Given the description of an element on the screen output the (x, y) to click on. 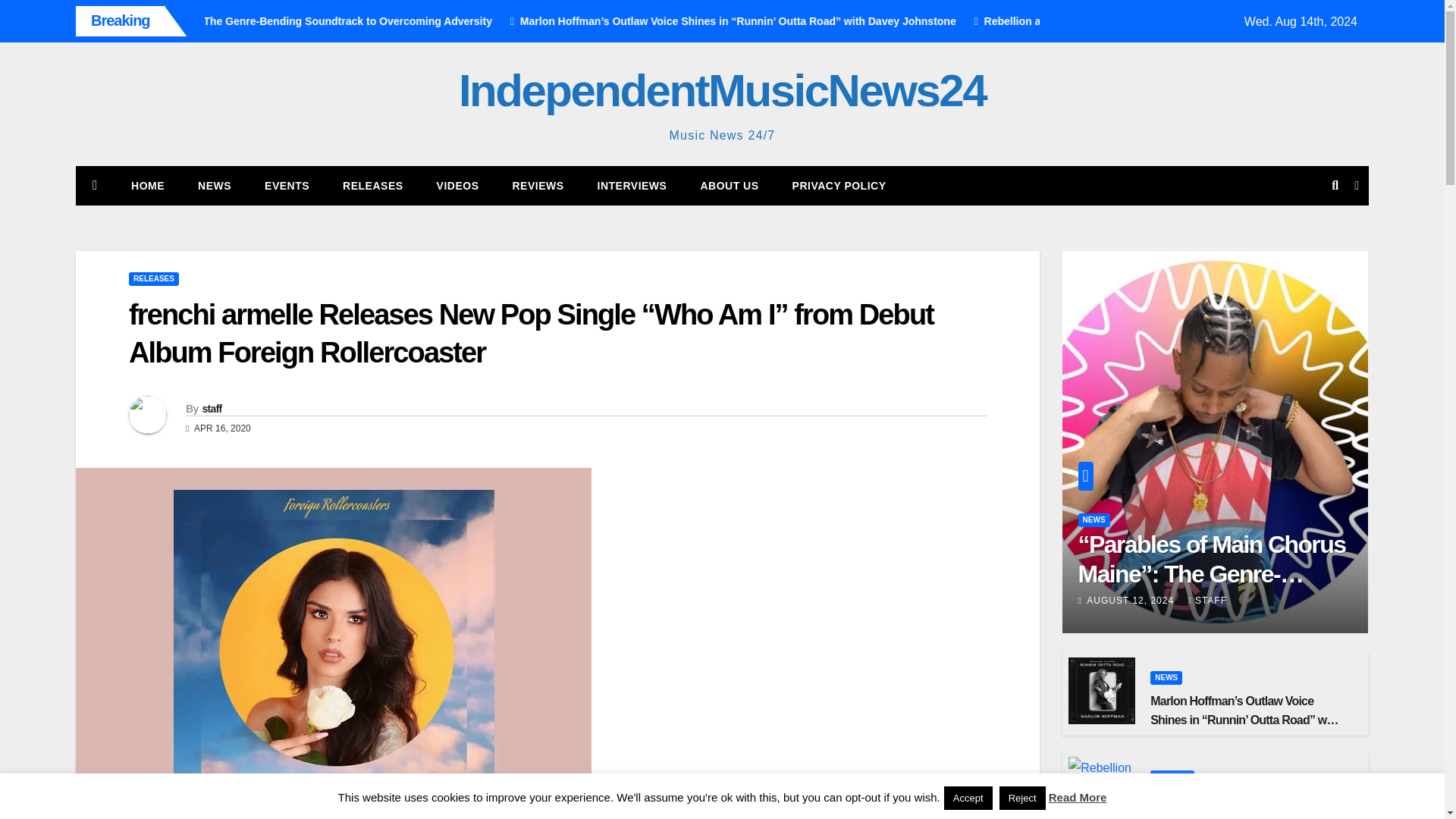
PRIVACY POLICY (839, 185)
Reviews (537, 185)
EVENTS (286, 185)
Events (286, 185)
REVIEWS (537, 185)
NEWS (213, 185)
About Us (728, 185)
VIDEOS (458, 185)
News (213, 185)
Privacy Policy (839, 185)
